Given the description of an element on the screen output the (x, y) to click on. 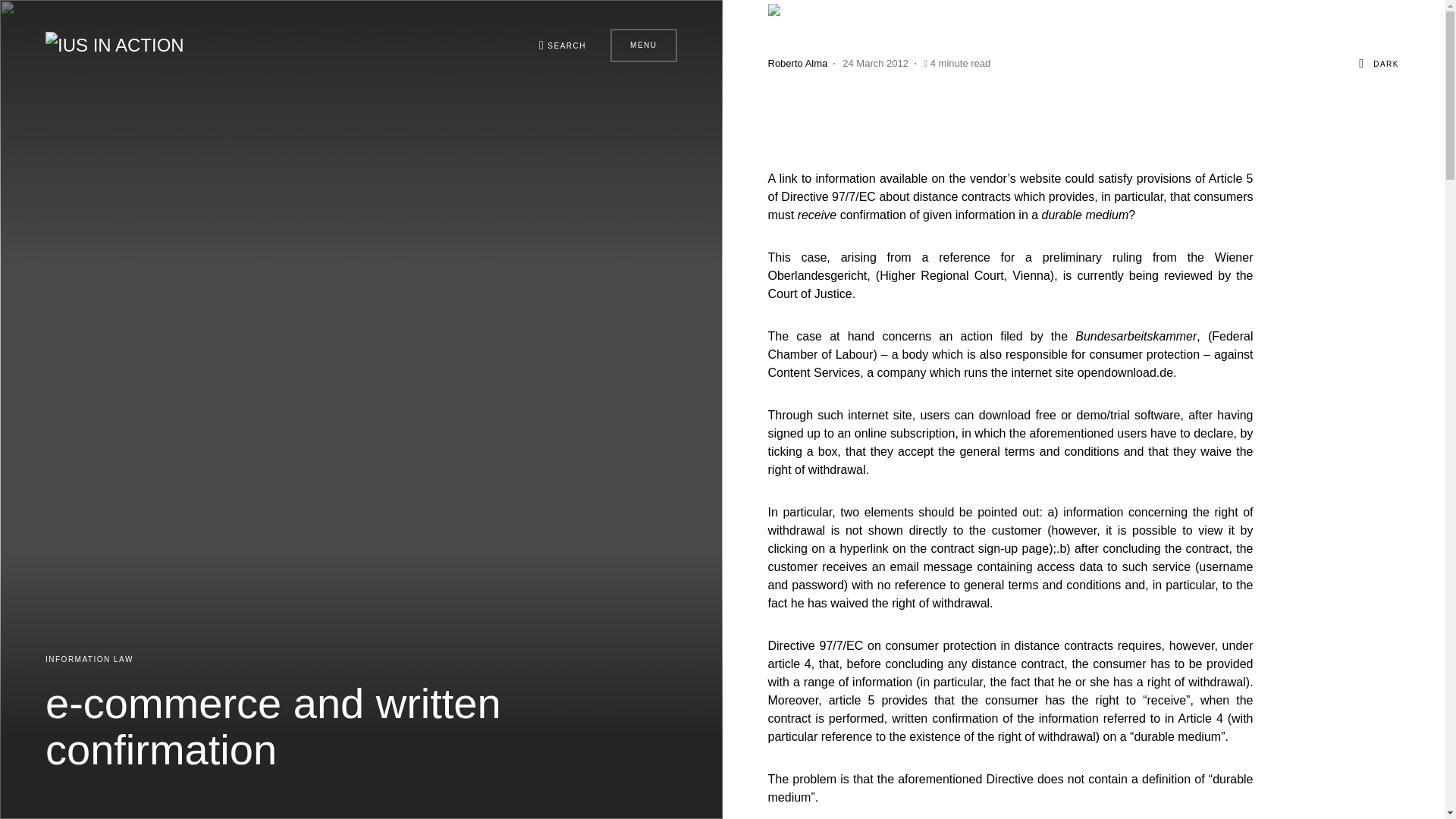
View all posts by Roberto Alma (797, 63)
INFORMATION LAW (89, 659)
Roberto Alma (797, 63)
